Given the description of an element on the screen output the (x, y) to click on. 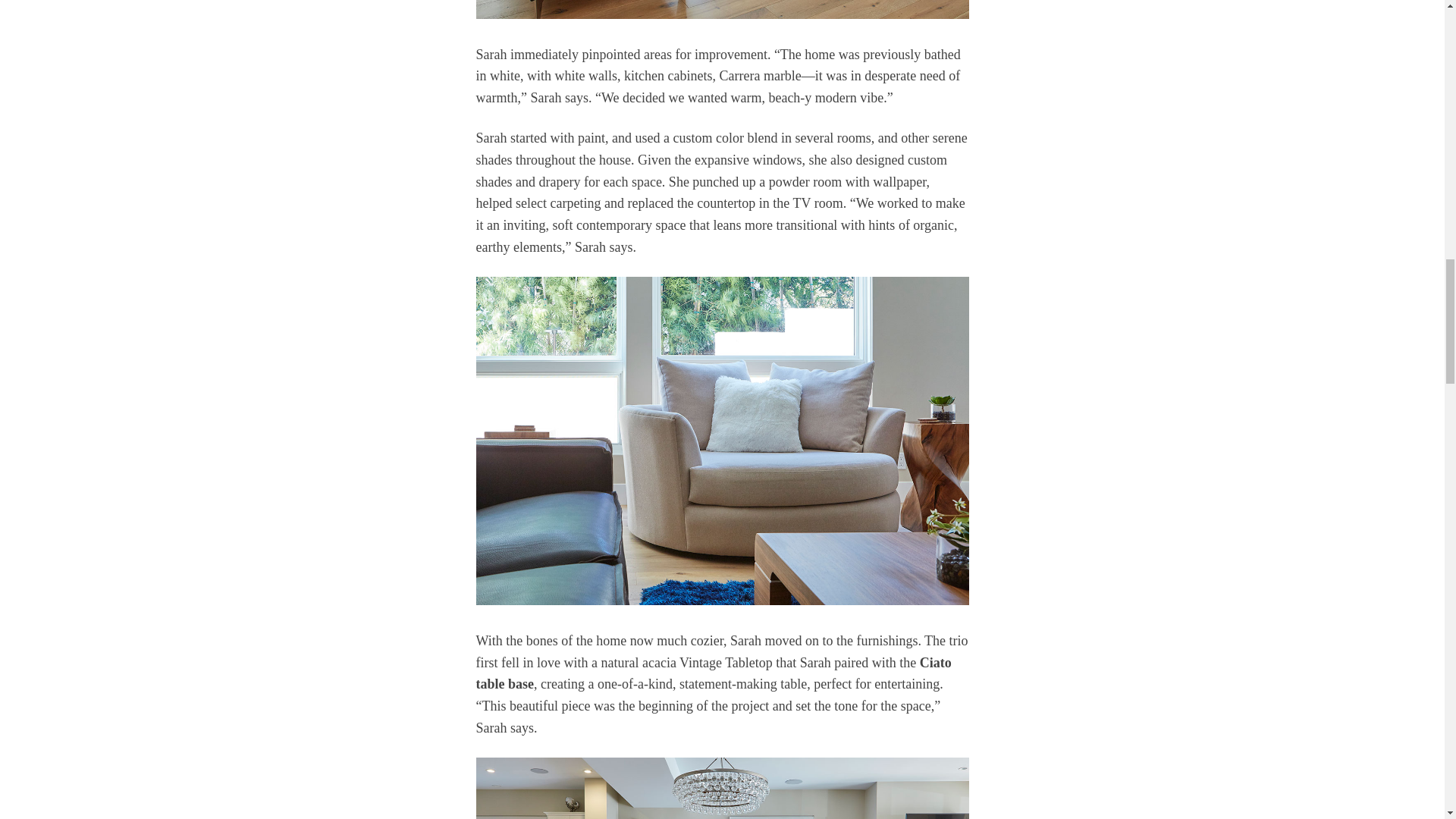
Ciato table base (714, 673)
